Given the description of an element on the screen output the (x, y) to click on. 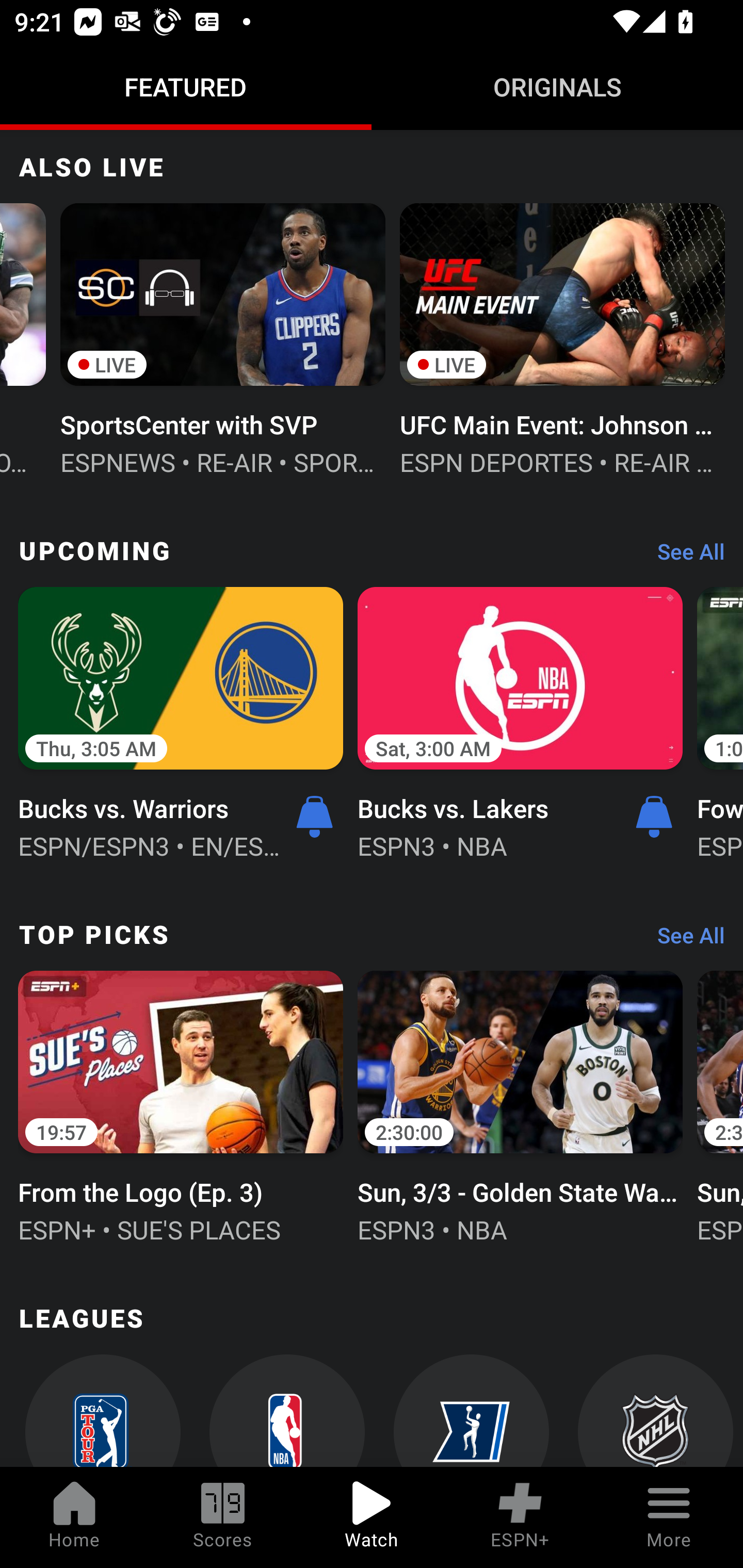
Originals ORIGINALS (557, 86)
See All (683, 556)
See All (683, 939)
19:57 From the Logo (Ep. 3) ESPN+ • SUE'S PLACES (180, 1104)
Home (74, 1517)
Scores (222, 1517)
ESPN+ (519, 1517)
More (668, 1517)
